Given the description of an element on the screen output the (x, y) to click on. 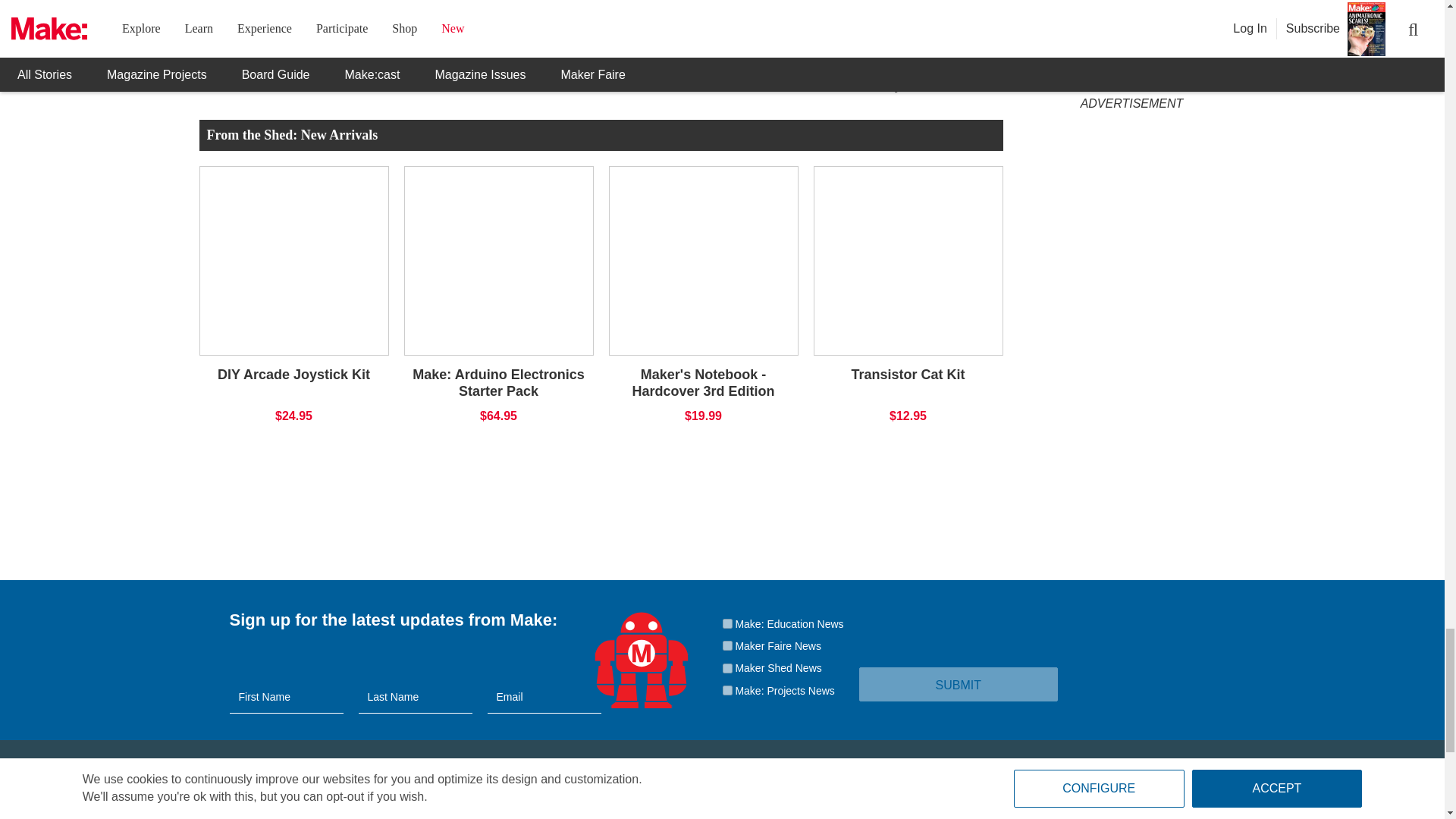
Book Review: The Star Wars Craft Book (595, 66)
Maker Shed News (727, 668)
Book Review: The Star Wars Craft Book (595, 27)
Maker Faire News (727, 645)
Make: Projects News (727, 690)
Make: Education News (727, 623)
